Given the description of an element on the screen output the (x, y) to click on. 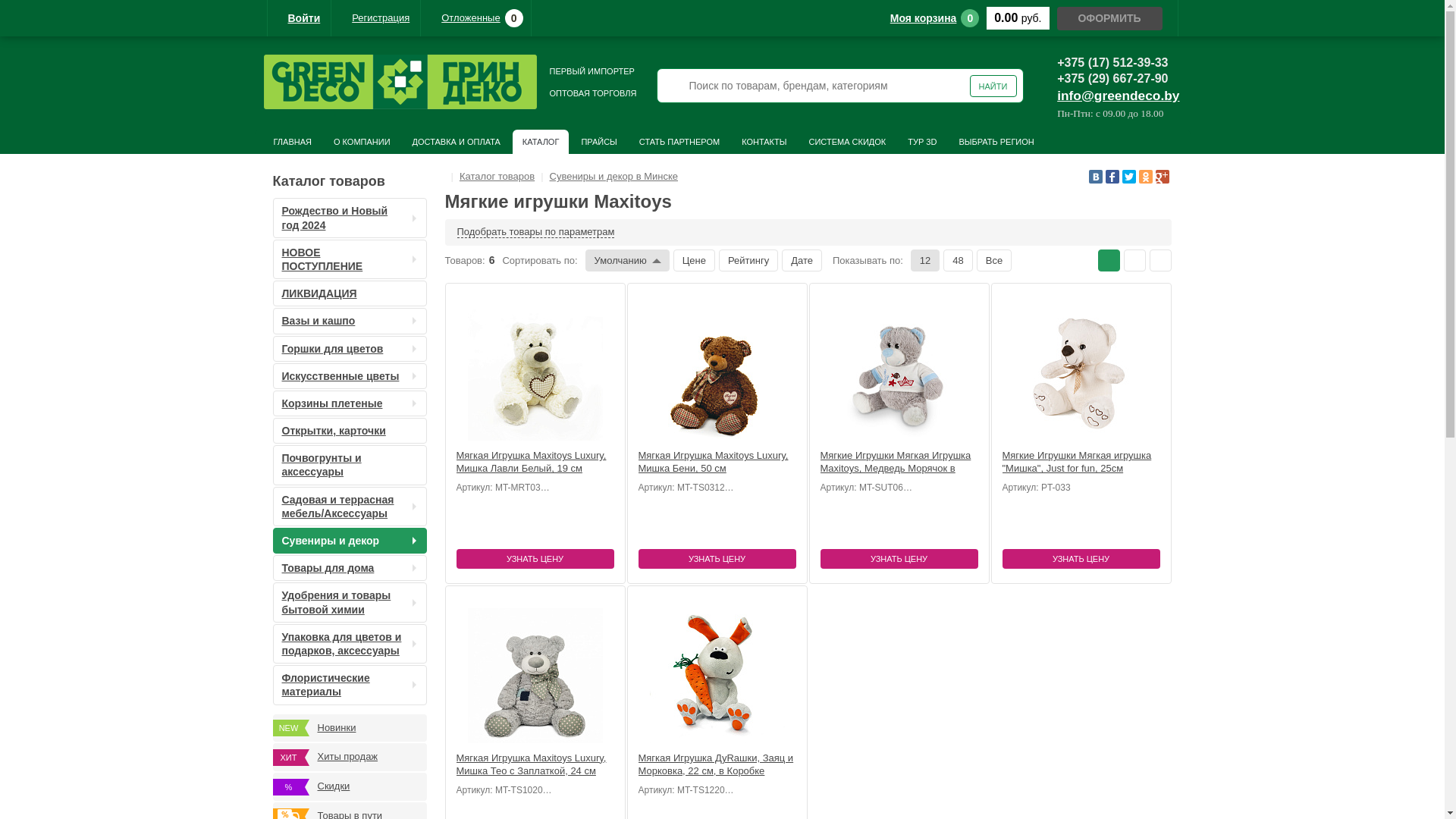
Facebook Element type: hover (1112, 176)
48 Element type: text (957, 260)
Google Plus Element type: hover (1162, 176)
12 Element type: text (924, 260)
info@greendeco.by Element type: text (1118, 95)
Twitter Element type: hover (1128, 176)
